Given the description of an element on the screen output the (x, y) to click on. 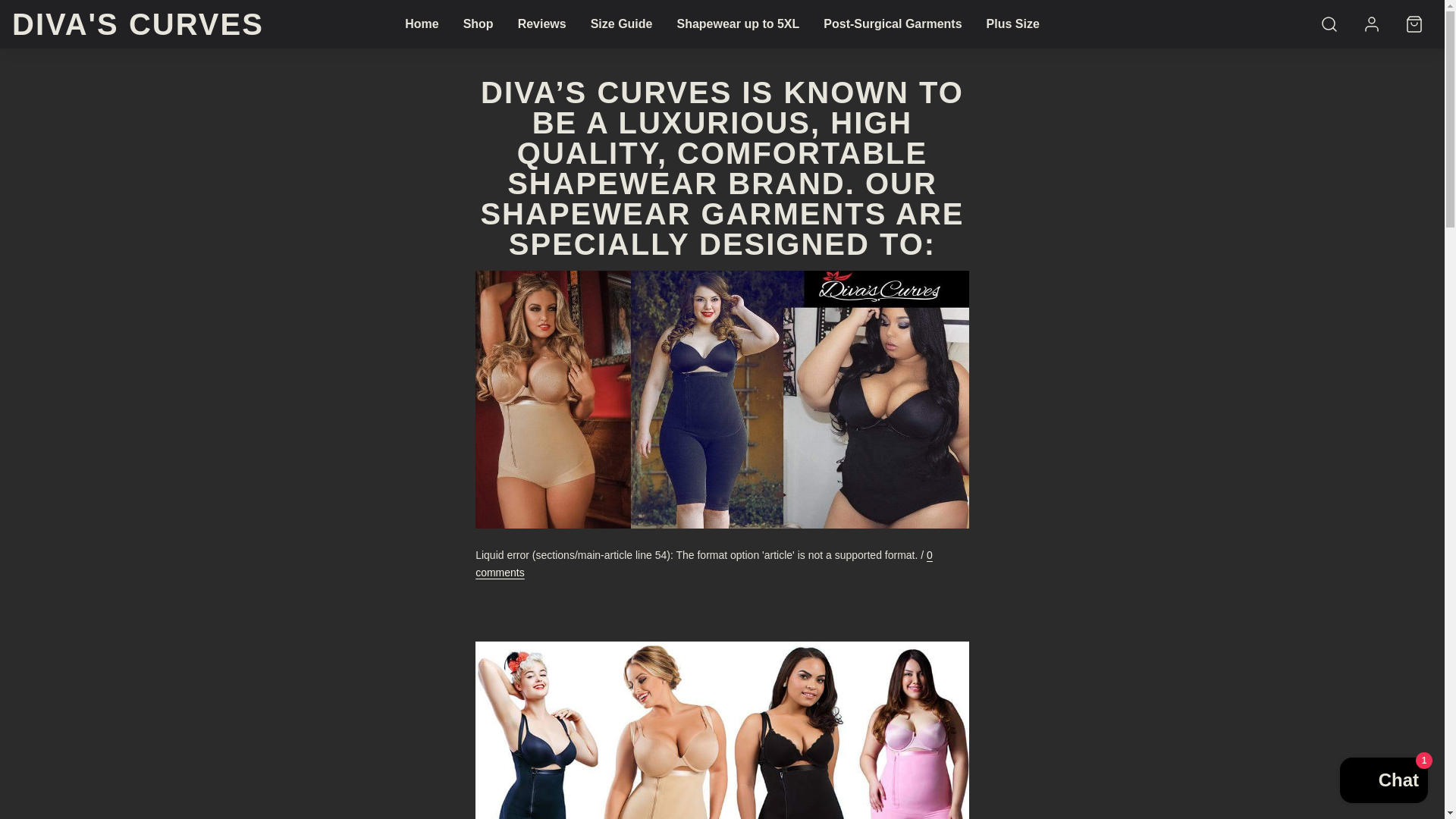
Shopify online store chat (1383, 781)
Home (421, 24)
Reviews (541, 24)
Plus Size (1012, 24)
Size Guide (621, 24)
Post-Surgical Garments (892, 24)
Shop (478, 24)
DIVA'S CURVES (137, 24)
Shapewear up to 5XL (737, 24)
Search (1329, 23)
0 comments (704, 563)
Account (1372, 23)
